Given the description of an element on the screen output the (x, y) to click on. 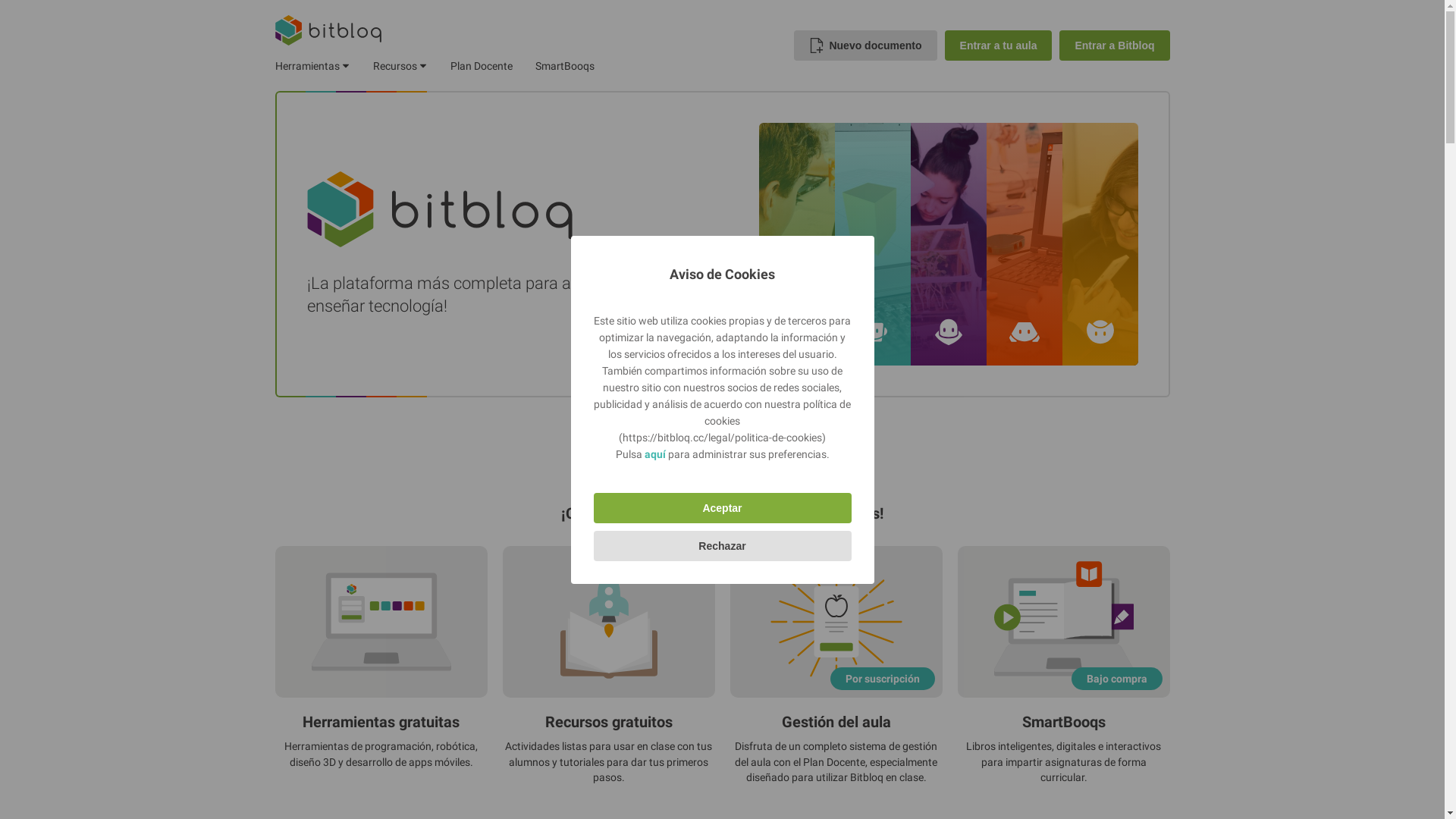
Nuevo documento Element type: text (864, 45)
Recursos Element type: text (400, 65)
Entrar a Bitbloq Element type: text (1114, 45)
Aceptar Element type: text (721, 507)
SmartBooqs Element type: text (564, 65)
Plan Docente Element type: text (481, 65)
Herramientas Element type: text (311, 65)
Entrar a tu aula Element type: text (998, 45)
Rechazar Element type: text (721, 545)
